Given the description of an element on the screen output the (x, y) to click on. 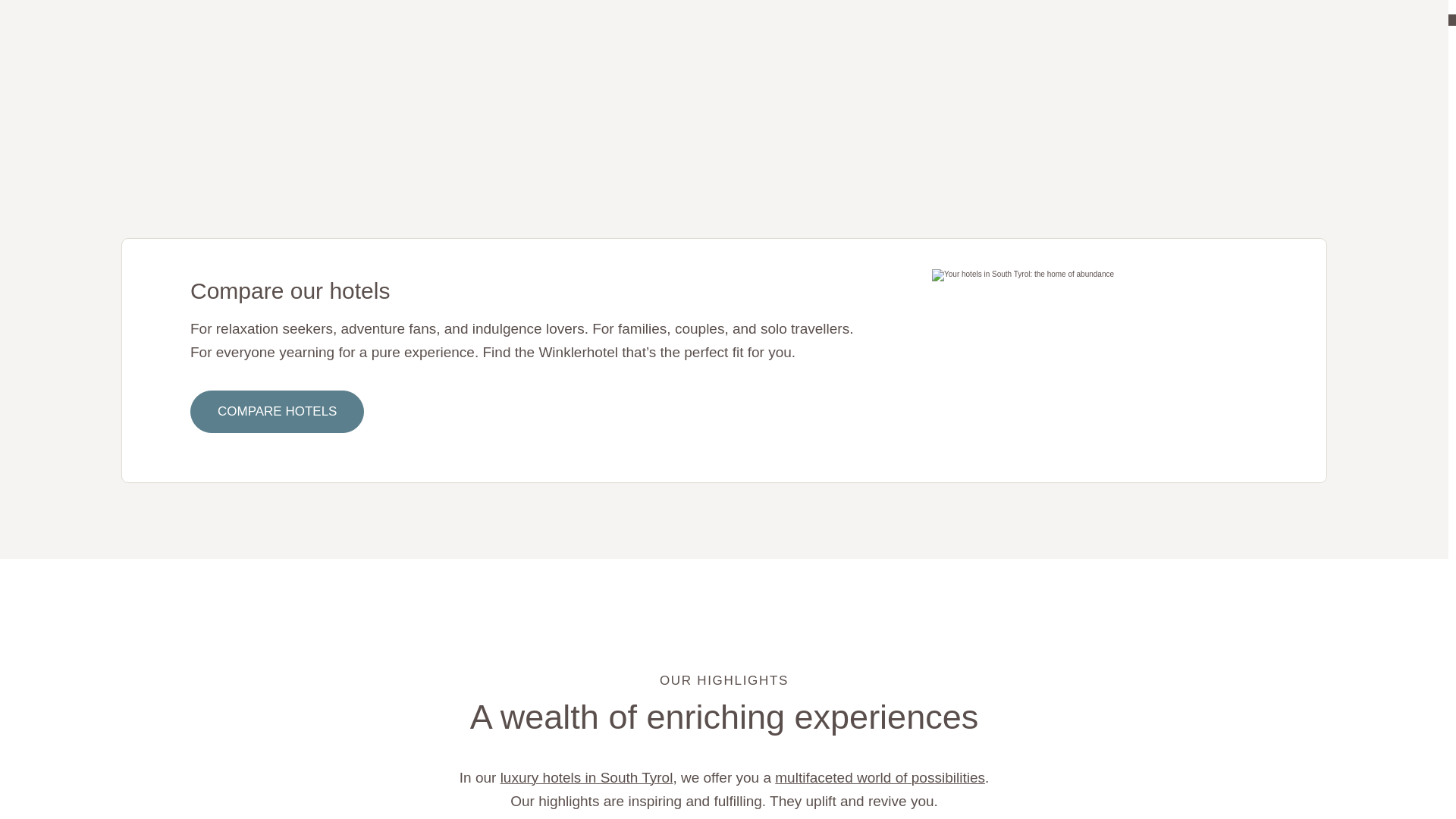
luxury hotels in South Tyrol (586, 777)
multifaceted world of possibilities (879, 777)
